Given the description of an element on the screen output the (x, y) to click on. 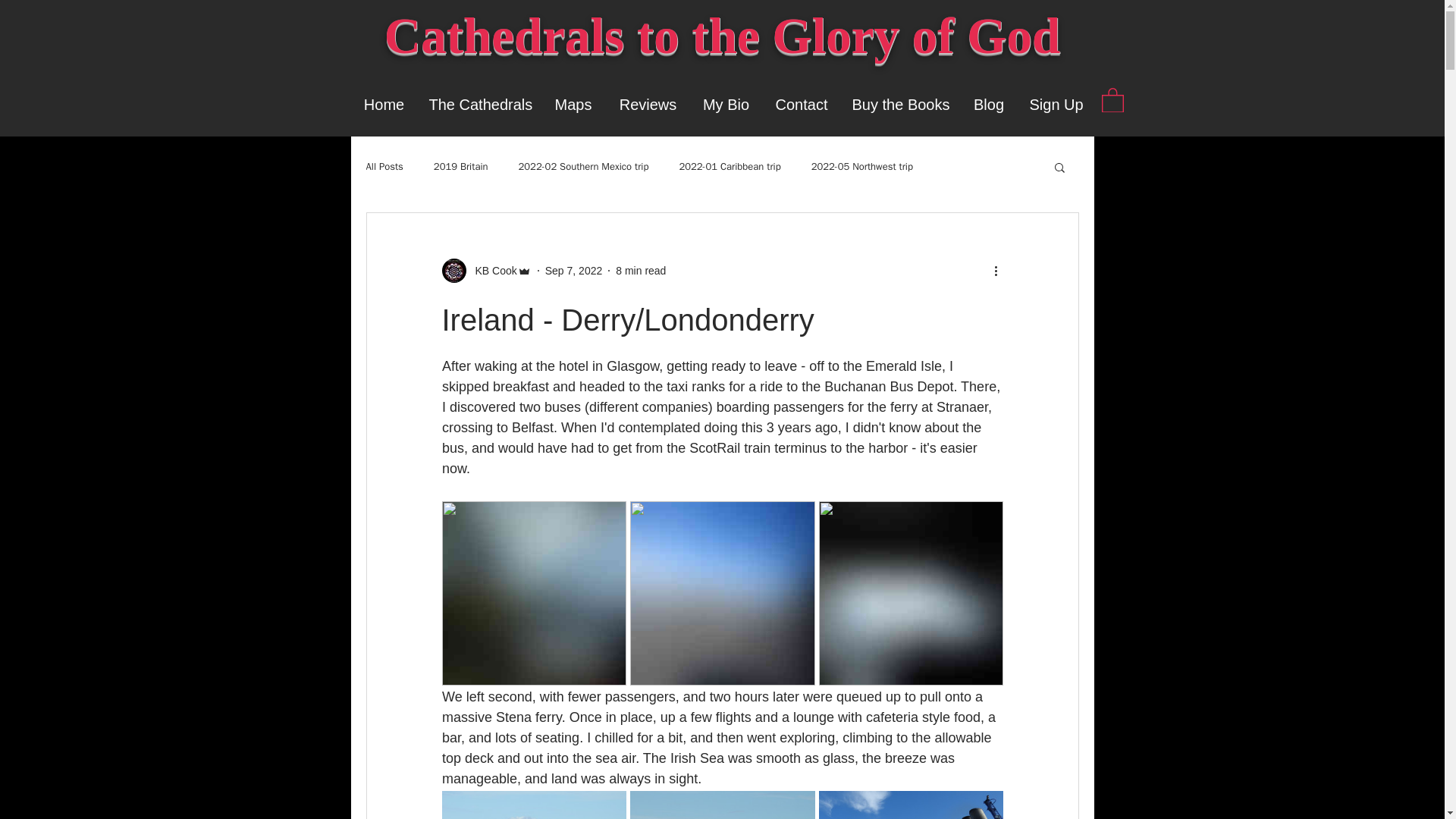
Blog (988, 104)
8 min read (640, 270)
2022-01 Caribbean trip (729, 166)
Sep 7, 2022 (573, 270)
My Bio (726, 104)
KB Cook (486, 270)
2022-02 Southern Mexico trip (583, 166)
KB Cook (490, 270)
Home (383, 104)
Sign Up (1055, 104)
2019 Britain (460, 166)
The Cathedrals (478, 104)
2022-05 Northwest trip (861, 166)
Contact (801, 104)
Reviews (648, 104)
